Given the description of an element on the screen output the (x, y) to click on. 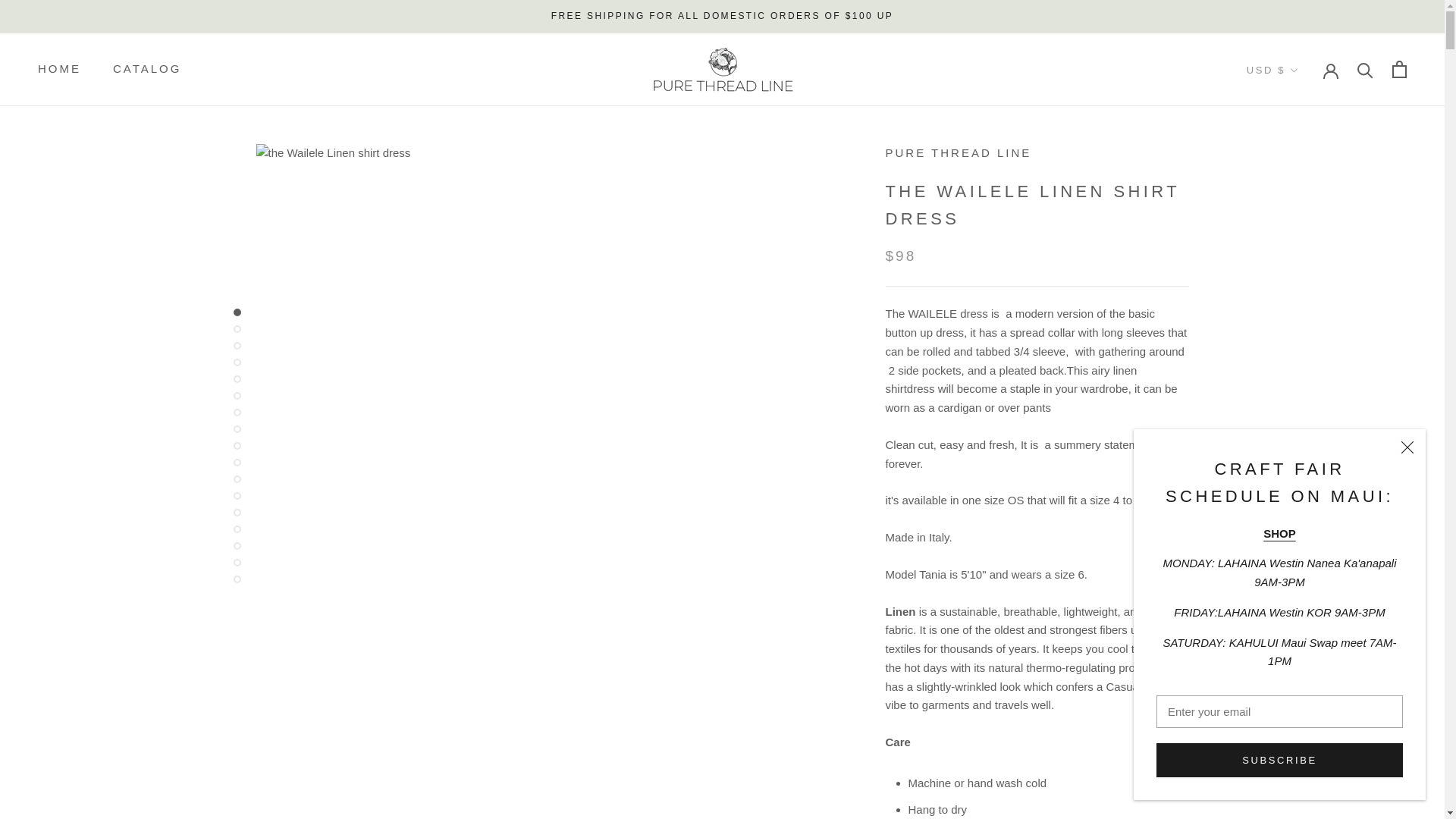
SUBSCRIBE (1279, 759)
SHOP (1279, 532)
All collections (1279, 532)
